Given the description of an element on the screen output the (x, y) to click on. 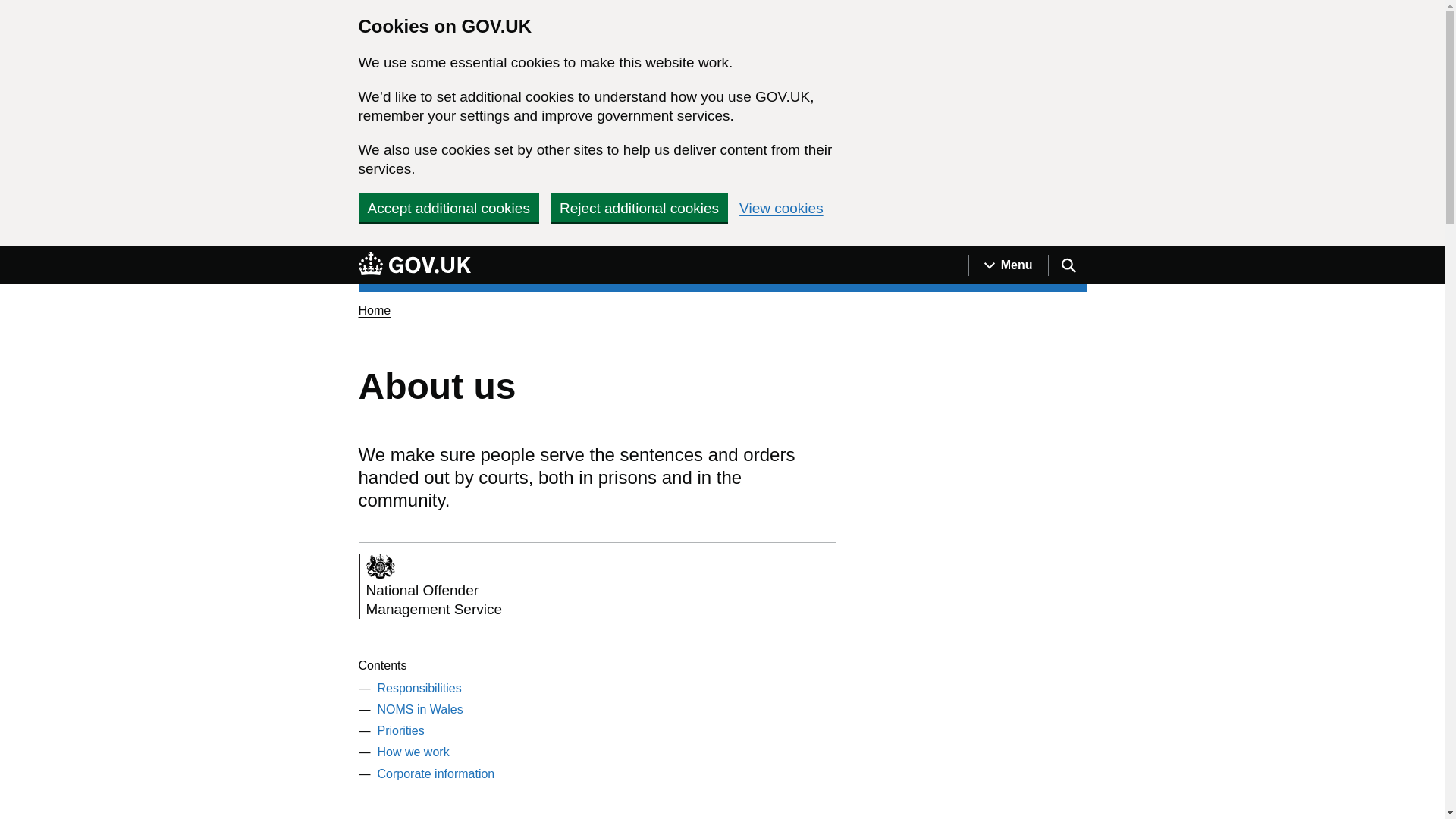
Skip to main content (11, 254)
Accept additional cookies (448, 207)
NOMS in Wales (477, 586)
Corporate information (420, 708)
Menu (436, 773)
GOV.UK (1008, 265)
Responsibilities (414, 264)
How we work (419, 686)
Reject additional cookies (413, 751)
